Given the description of an element on the screen output the (x, y) to click on. 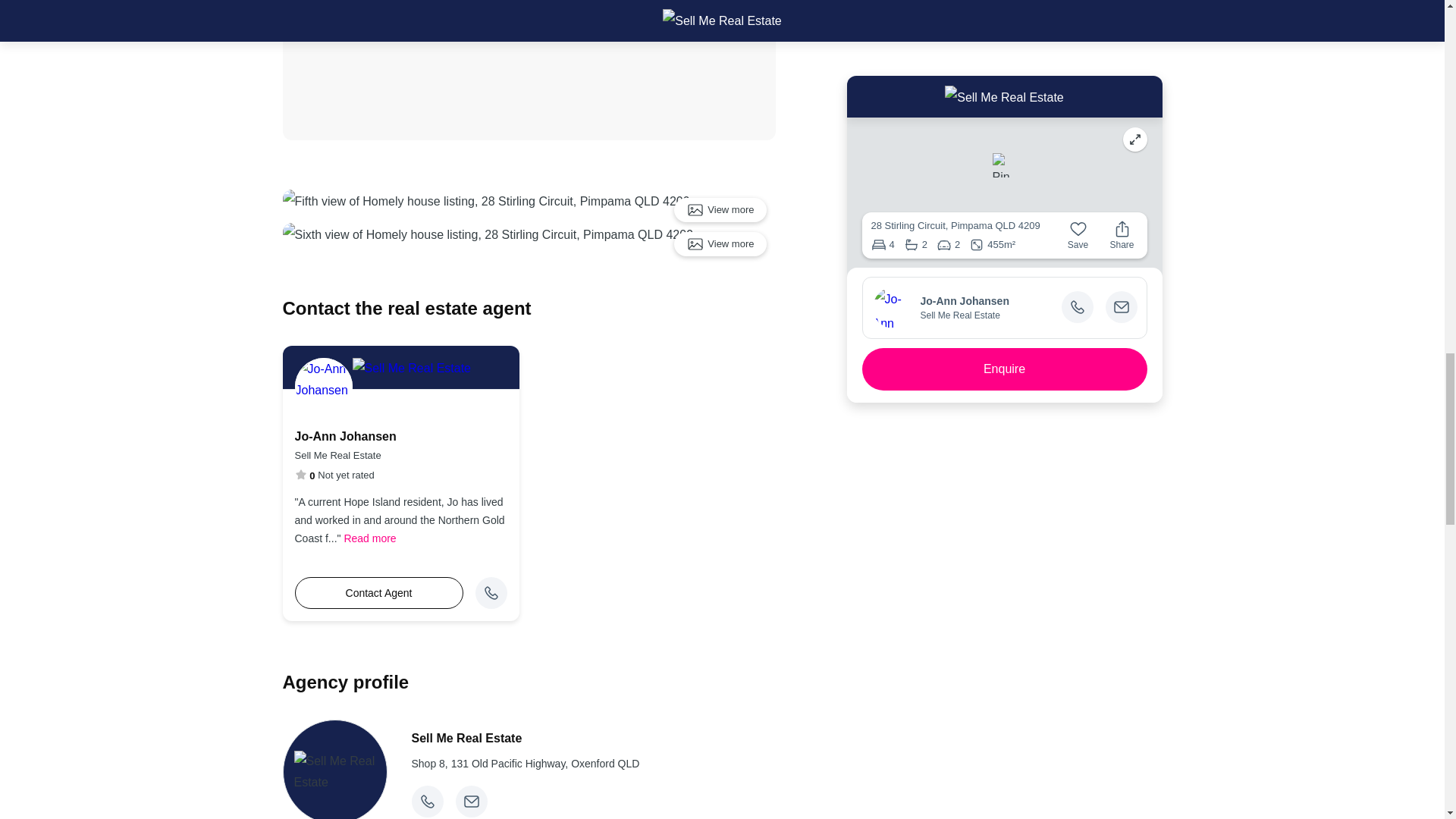
Contact Agent (378, 593)
